Given the description of an element on the screen output the (x, y) to click on. 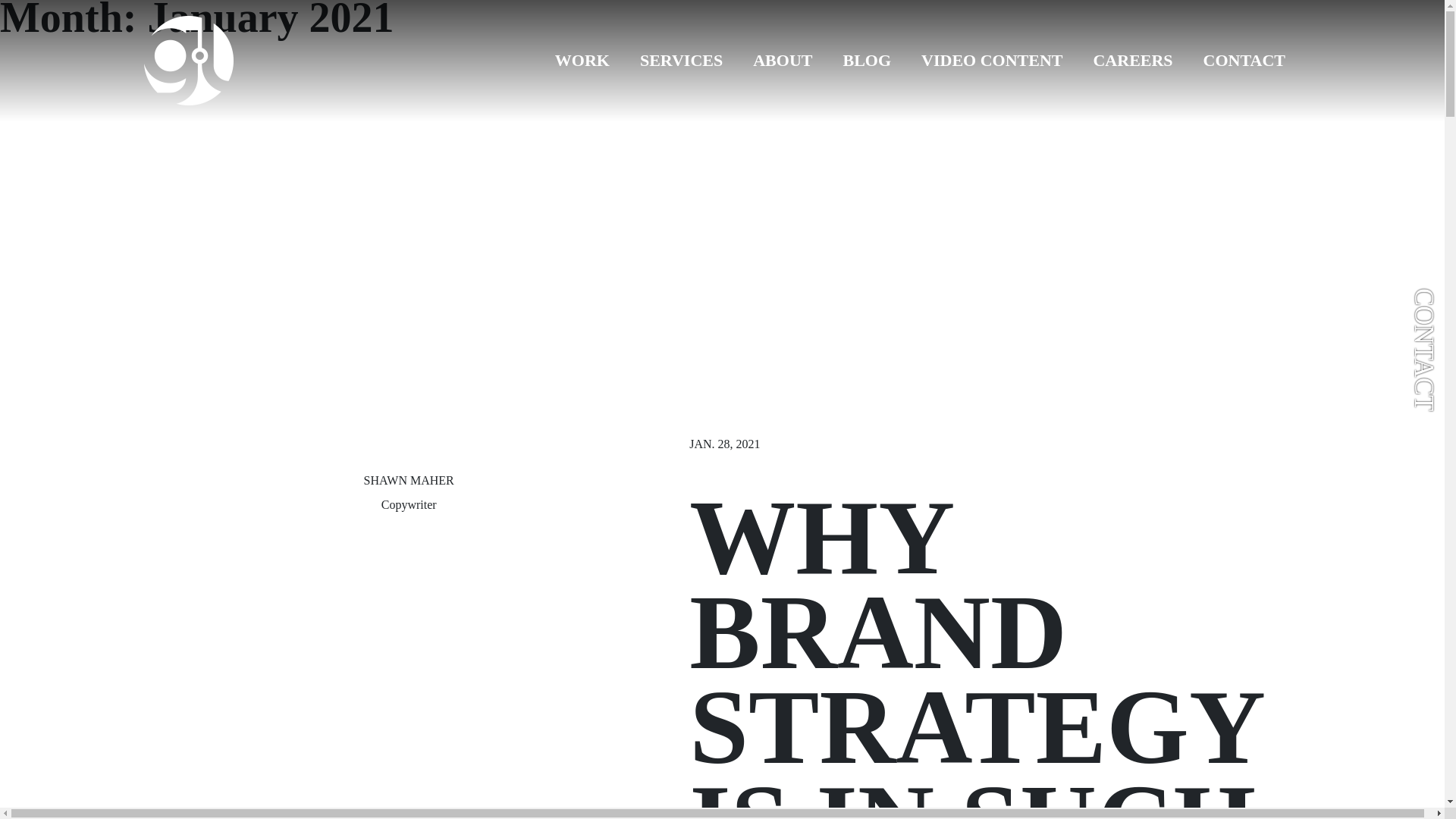
CAREERS (1132, 60)
ABOUT (782, 60)
CONTACT (1244, 60)
WORK (582, 60)
VIDEO CONTENT (991, 60)
BLOG (866, 60)
SERVICES (681, 60)
